Given the description of an element on the screen output the (x, y) to click on. 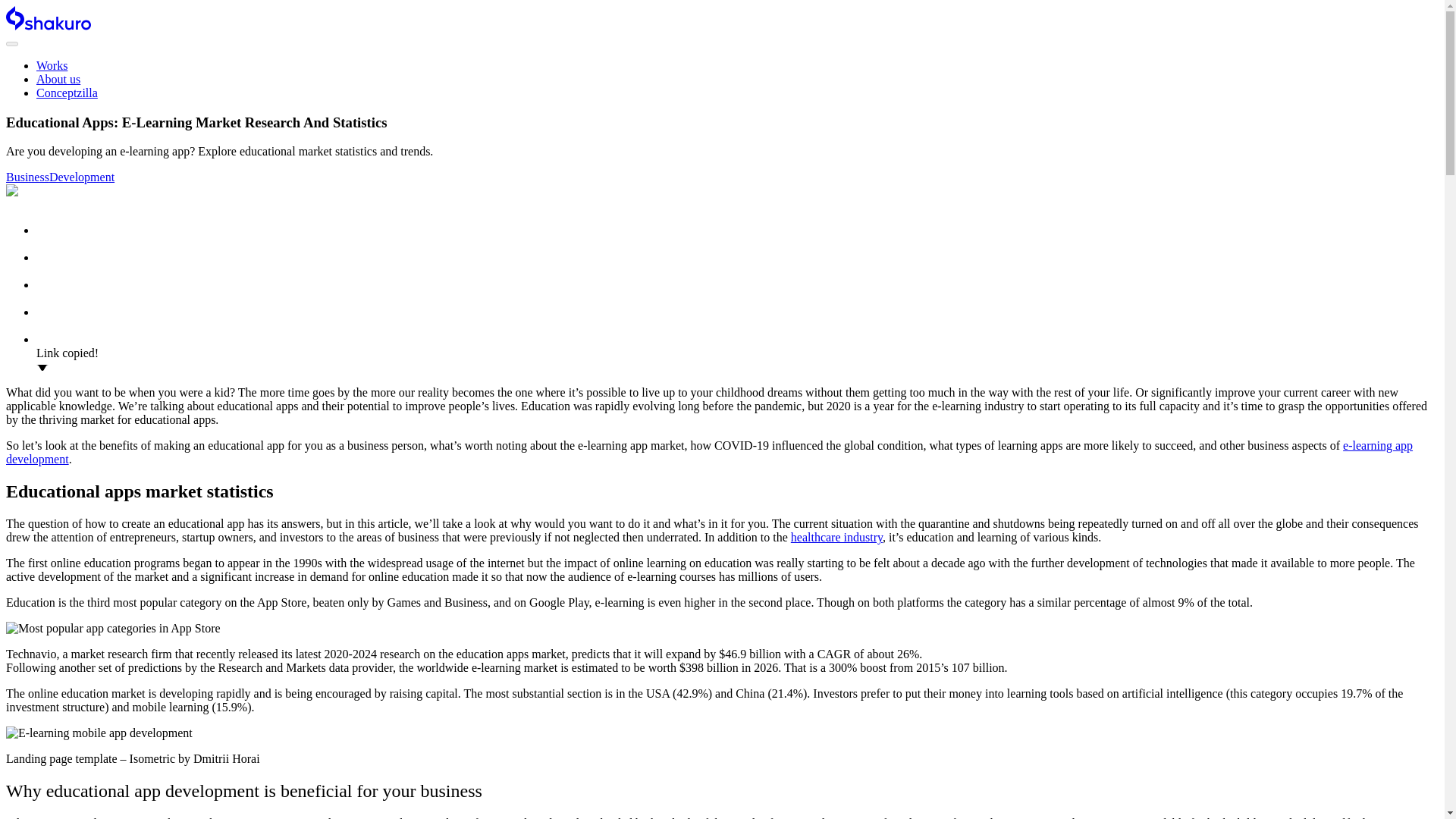
Conceptzilla (66, 92)
About us (58, 78)
healthcare industry (836, 536)
Works (51, 65)
Development (82, 176)
E-learning mobile app development (98, 733)
Business (27, 176)
e-learning app development (708, 452)
